Given the description of an element on the screen output the (x, y) to click on. 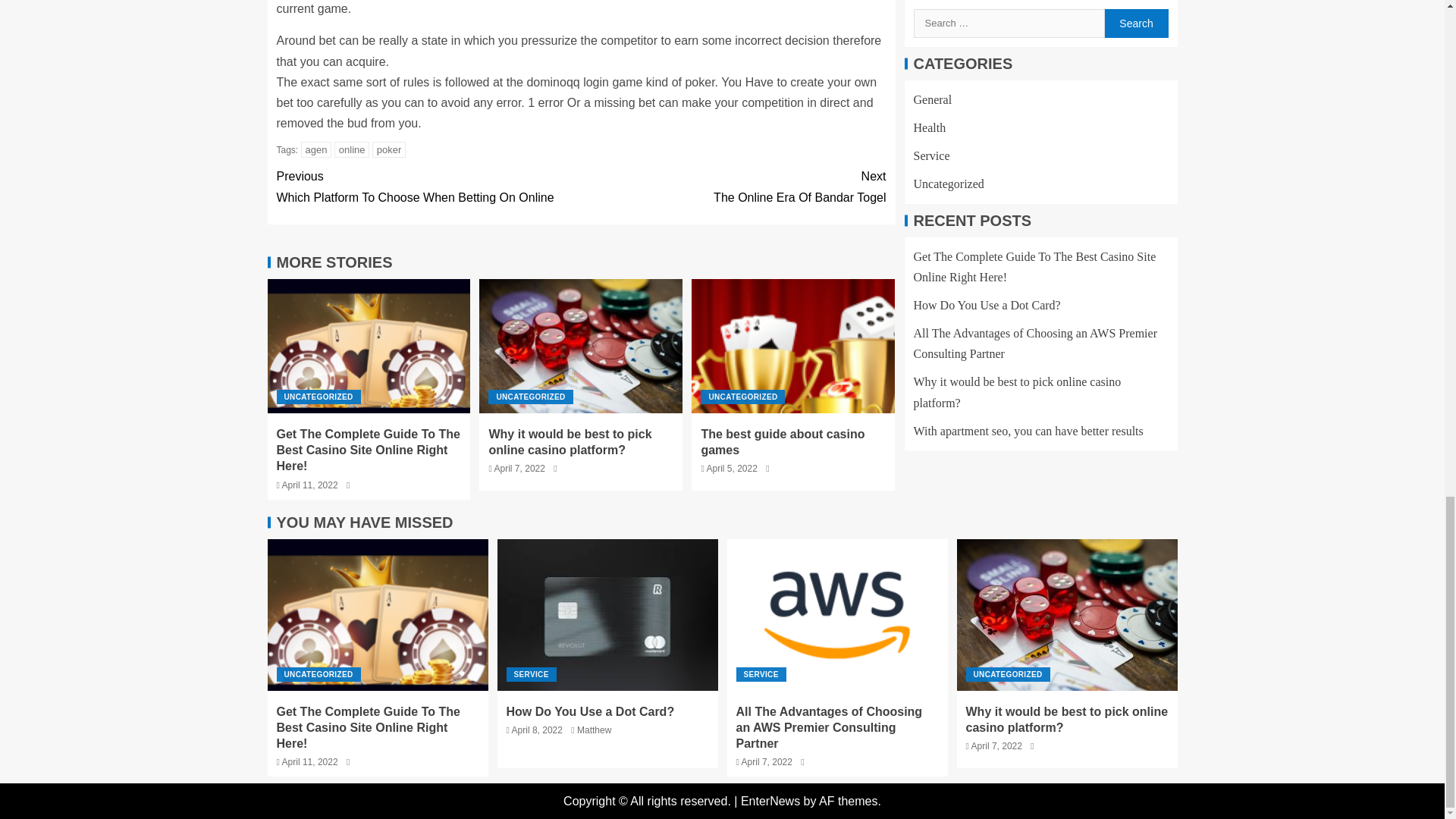
The best guide about casino games (782, 441)
poker (428, 186)
UNCATEGORIZED (389, 149)
UNCATEGORIZED (529, 396)
Why it would be best to pick online casino platform? (317, 396)
agen (568, 441)
online (316, 149)
UNCATEGORIZED (732, 186)
